Given the description of an element on the screen output the (x, y) to click on. 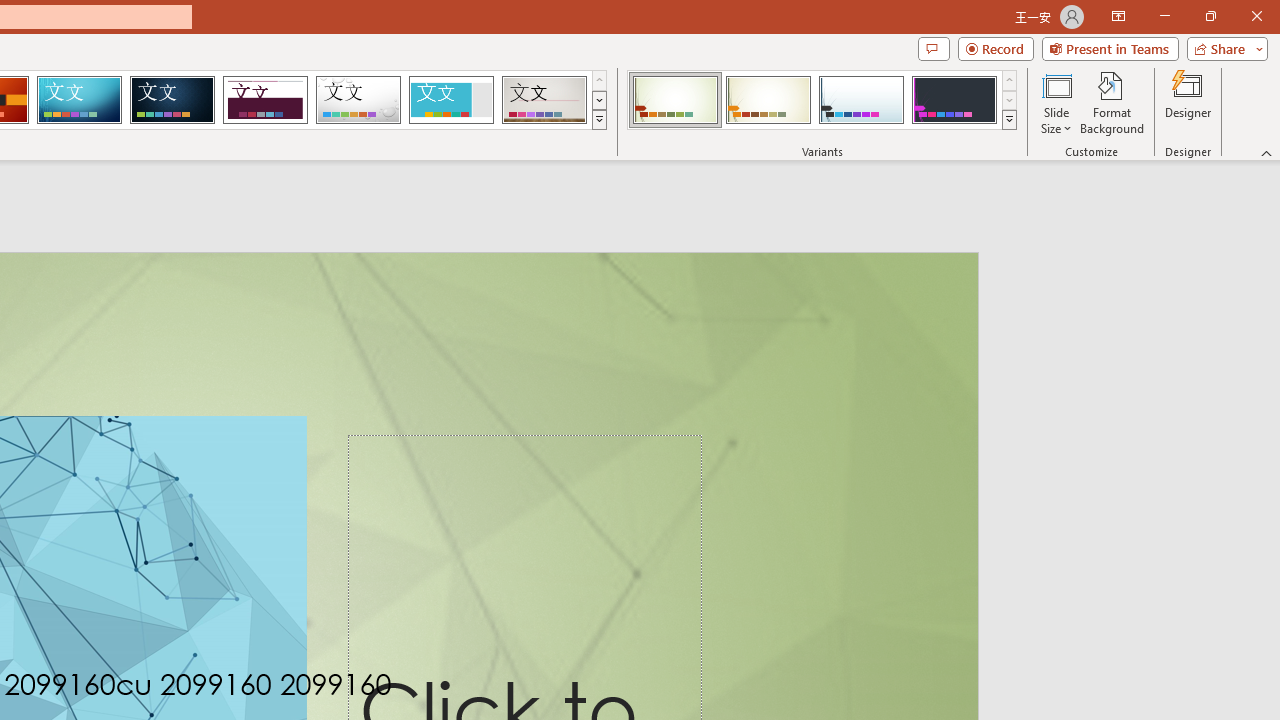
AutomationID: ThemeVariantsGallery (822, 99)
Wisp Variant 4 (953, 100)
Slide Size (1056, 102)
Wisp Variant 3 (861, 100)
Gallery Loading Preview... (544, 100)
Wisp Variant 1 (674, 100)
